Given the description of an element on the screen output the (x, y) to click on. 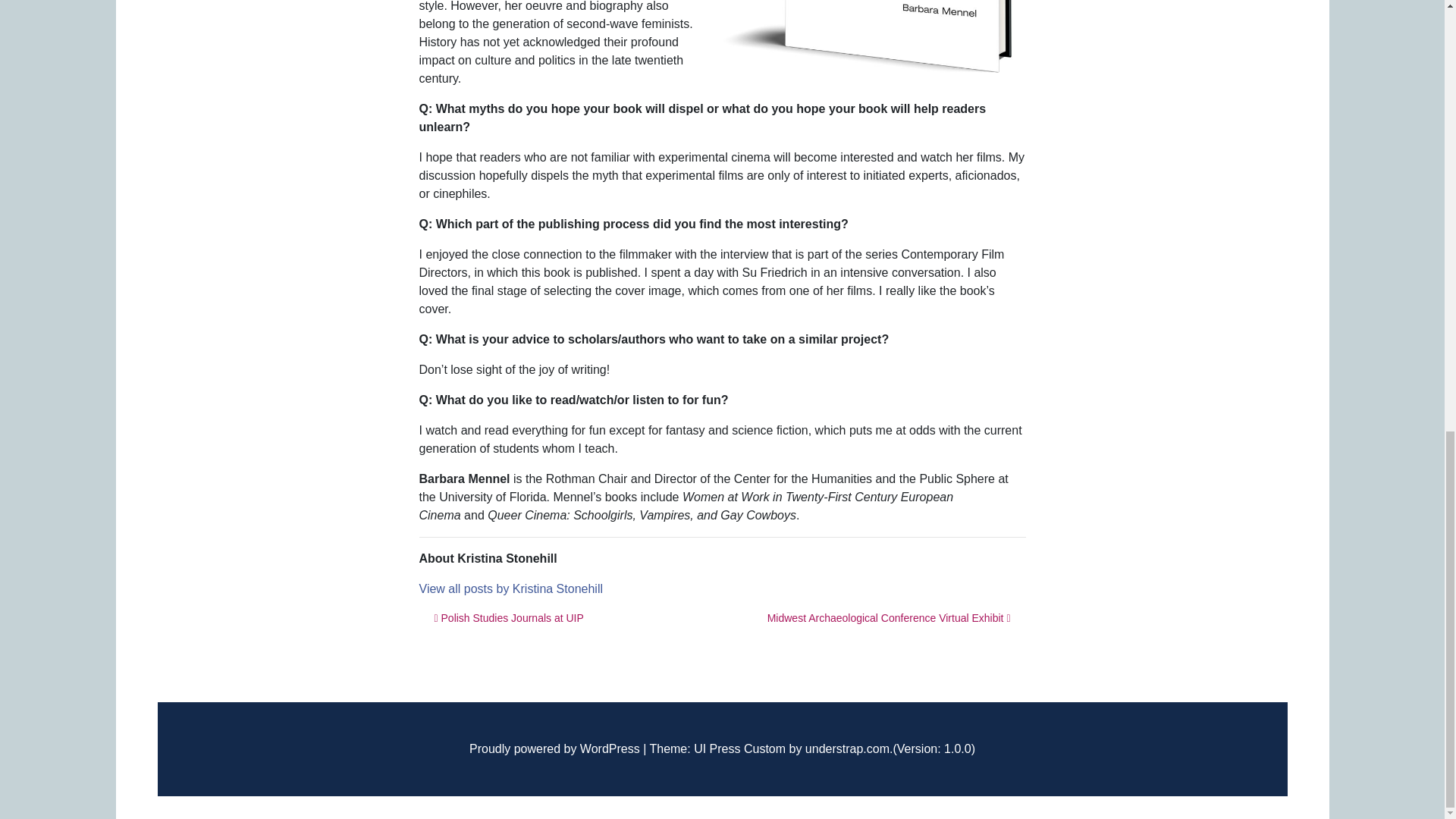
 Polish Studies Journals at UIP (508, 617)
View all posts by Kristina Stonehill (510, 588)
understrap.com (847, 748)
Proudly powered by WordPress (554, 748)
Midwest Archaeological Conference Virtual Exhibit  (888, 617)
